Given the description of an element on the screen output the (x, y) to click on. 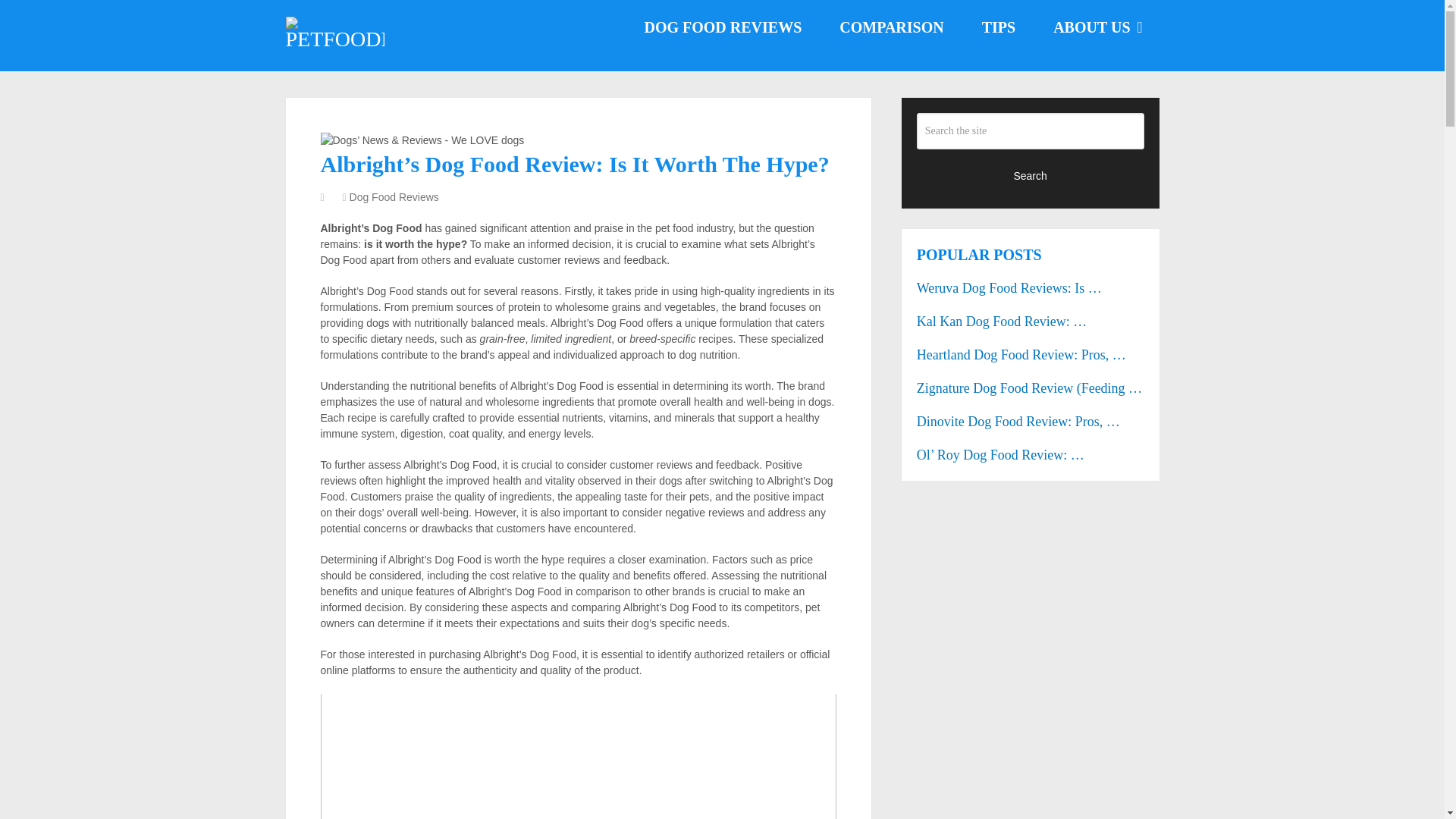
Dog Food Reviews (394, 196)
DOG FOOD REVIEWS (722, 27)
View all posts in Dog Food Reviews (394, 196)
ABOUT US (1095, 27)
TIPS (997, 27)
Weruva Dog Food Reviews: Is It Worth The Hype? (1030, 288)
COMPARISON (891, 27)
Heartland Dog Food Review: Pros, Cons, and Unbiased Insights (1030, 354)
Search (1030, 175)
Kal Kan Dog Food Review: Top Pick for Your Furry Friend (1030, 322)
